Given the description of an element on the screen output the (x, y) to click on. 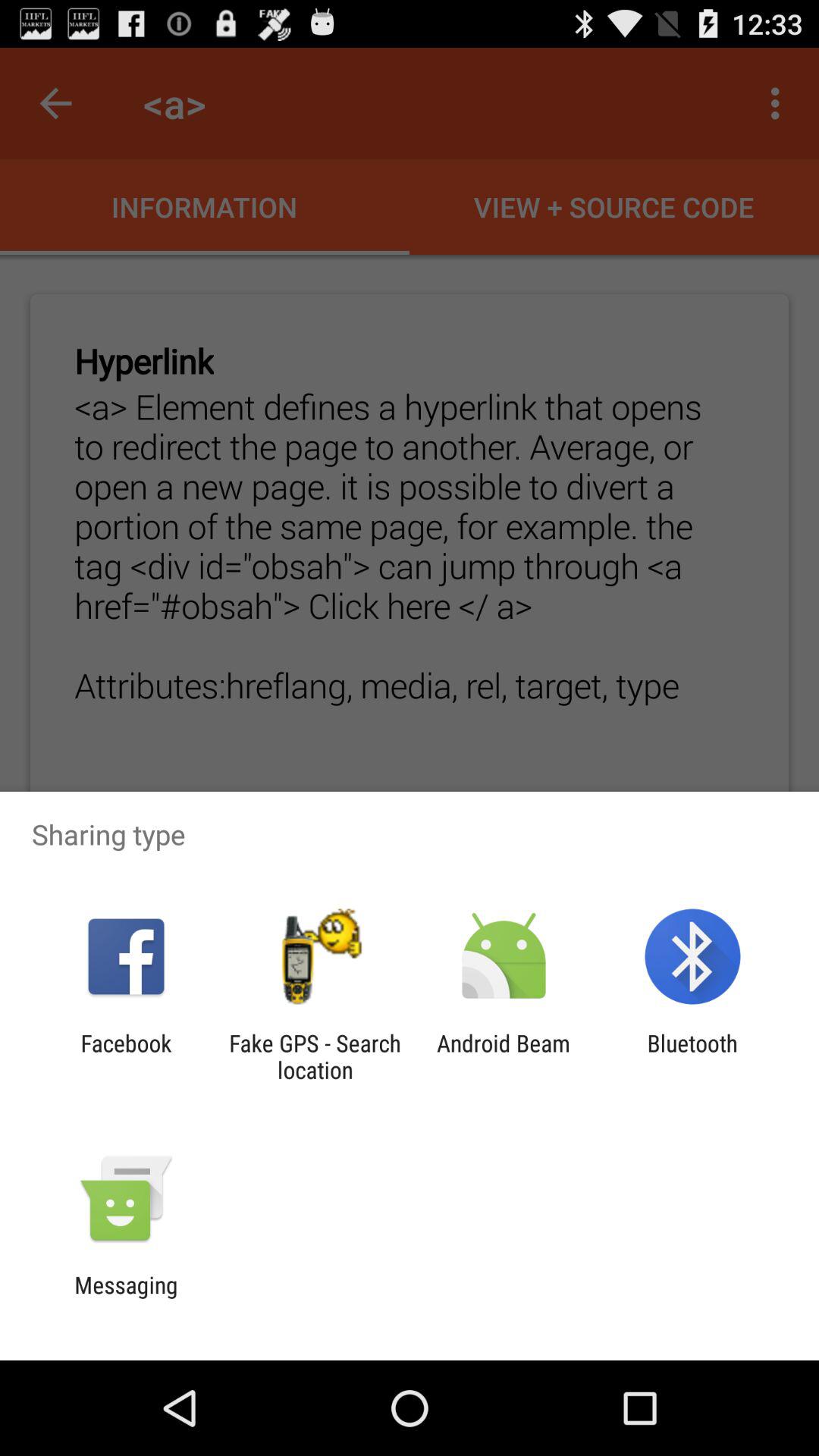
launch the fake gps search app (314, 1056)
